Given the description of an element on the screen output the (x, y) to click on. 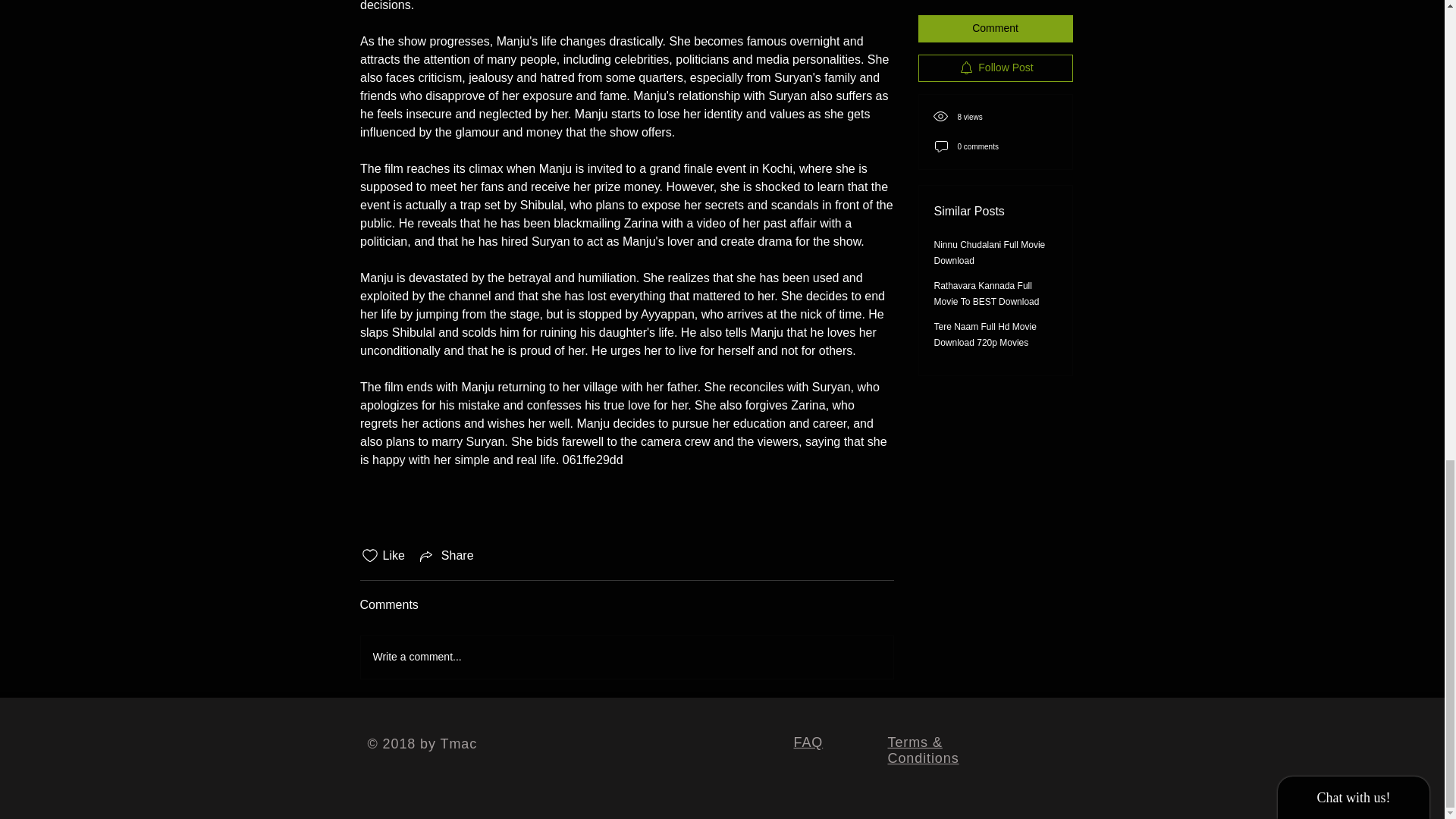
FAQ (807, 742)
Share (445, 556)
Write a comment... (627, 657)
